Given the description of an element on the screen output the (x, y) to click on. 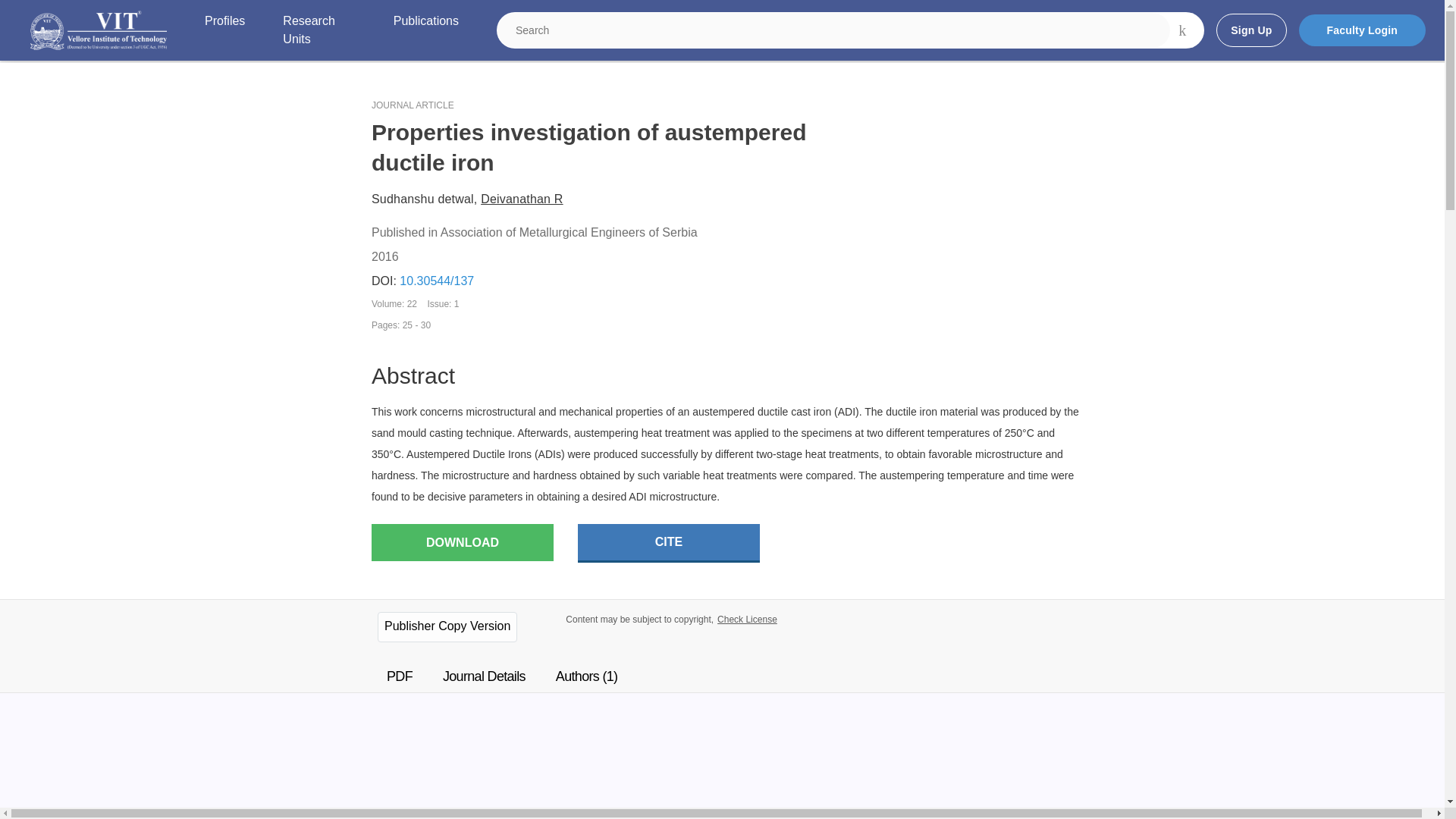
Institution logo (98, 30)
Research Units (318, 30)
Check License (747, 619)
Profiles (224, 30)
Sign Up (1250, 29)
Publications (425, 30)
Journal Details (484, 676)
DOWNLOAD (462, 542)
Faculty Login (1361, 29)
PDF (399, 676)
